Given the description of an element on the screen output the (x, y) to click on. 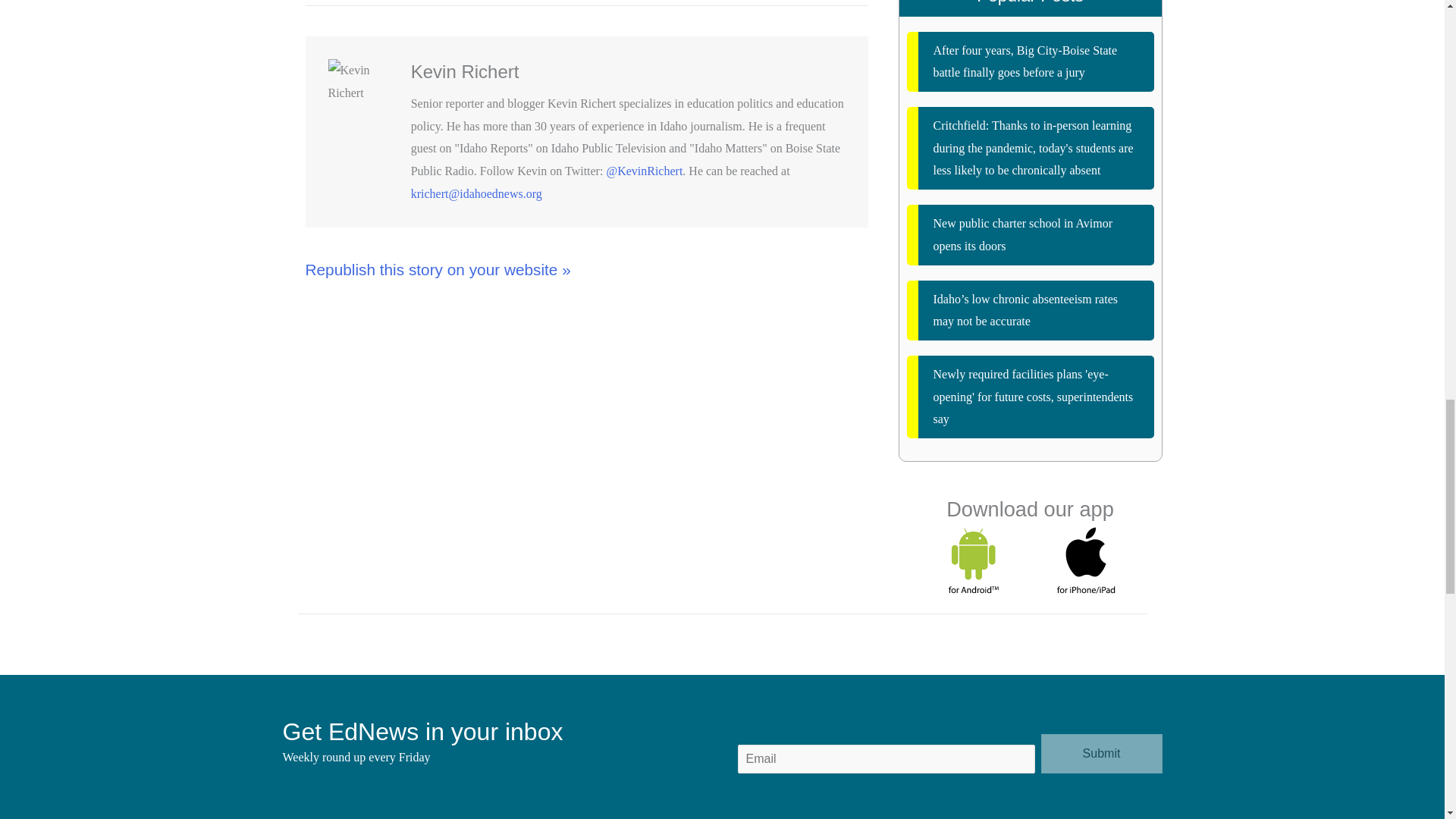
New public charter school in Avimor opens its doors (1030, 234)
